Given the description of an element on the screen output the (x, y) to click on. 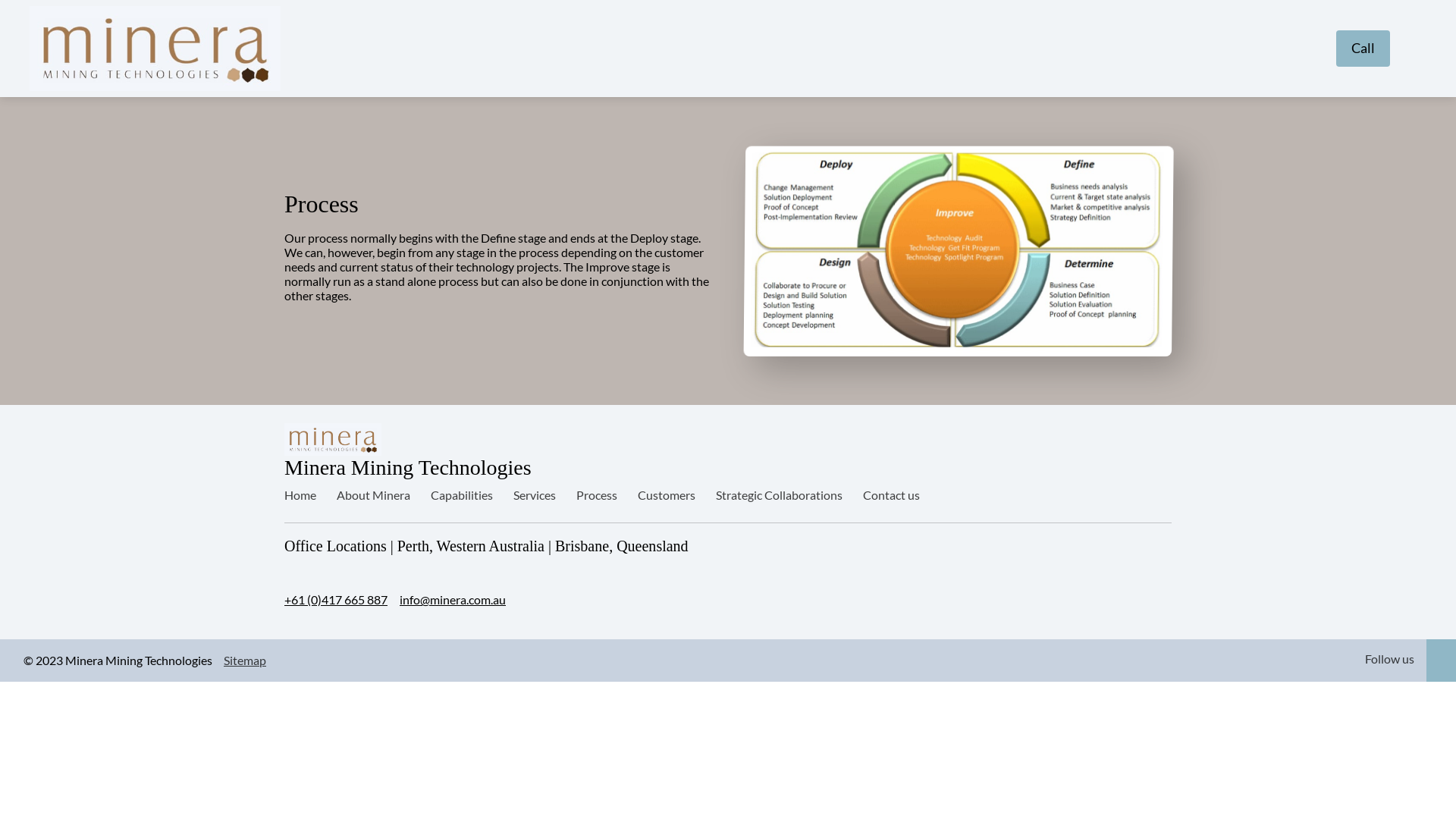
Contact us Element type: text (890, 494)
Sitemap Element type: text (244, 659)
About Minera Element type: text (373, 494)
Capabilities Element type: text (461, 494)
Strategic Collaborations Element type: text (778, 494)
Call Element type: text (1363, 48)
Customers Element type: text (666, 494)
+61 (0)417 665 887 Element type: text (335, 599)
Process Element type: text (596, 494)
Home Element type: text (300, 494)
Services Element type: text (534, 494)
info@minera.com.au Element type: text (452, 599)
